Given the description of an element on the screen output the (x, y) to click on. 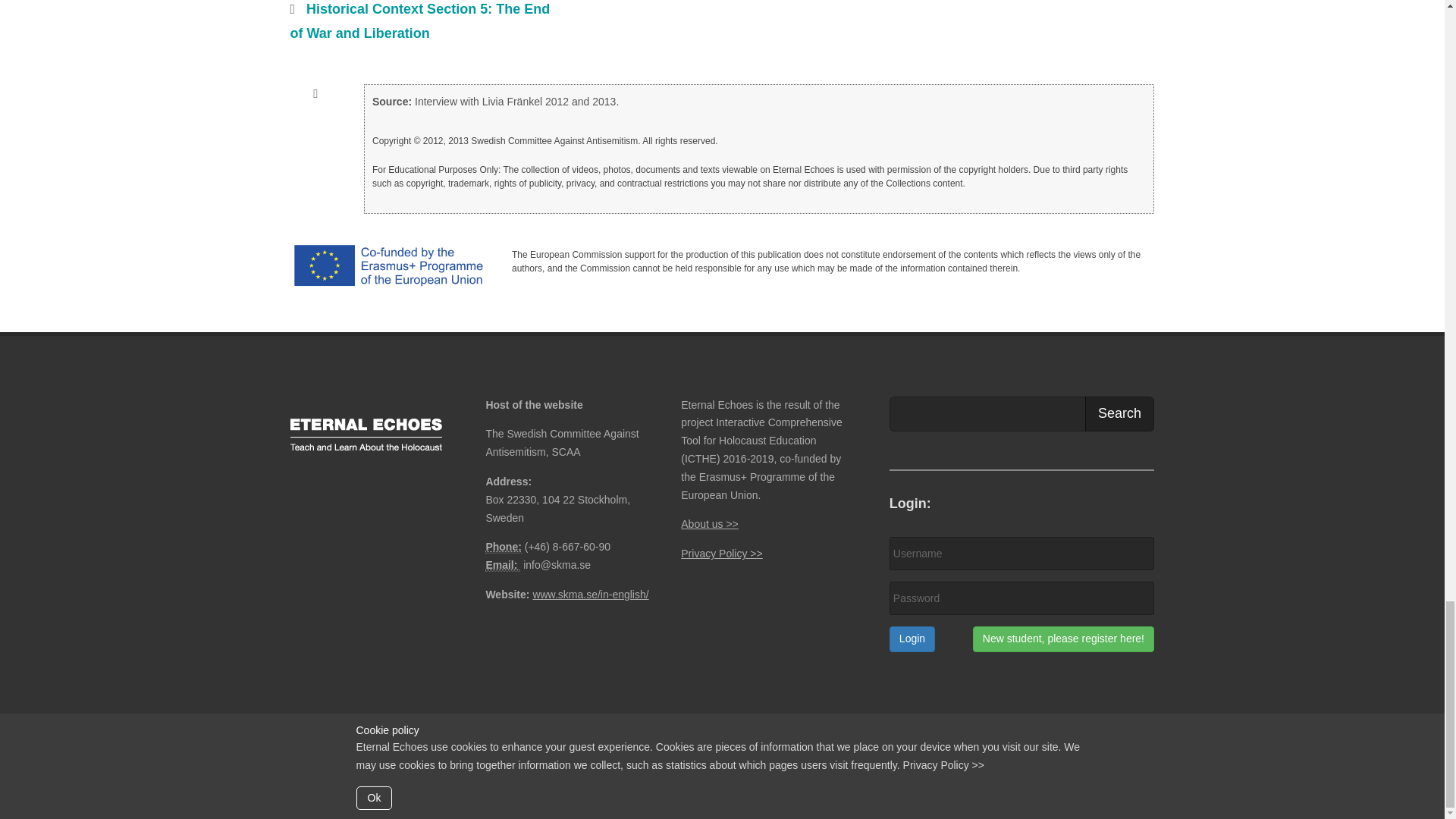
Phone Number (502, 546)
Email Address (501, 564)
Login (911, 638)
Search (1119, 413)
Search (1119, 413)
